Given the description of an element on the screen output the (x, y) to click on. 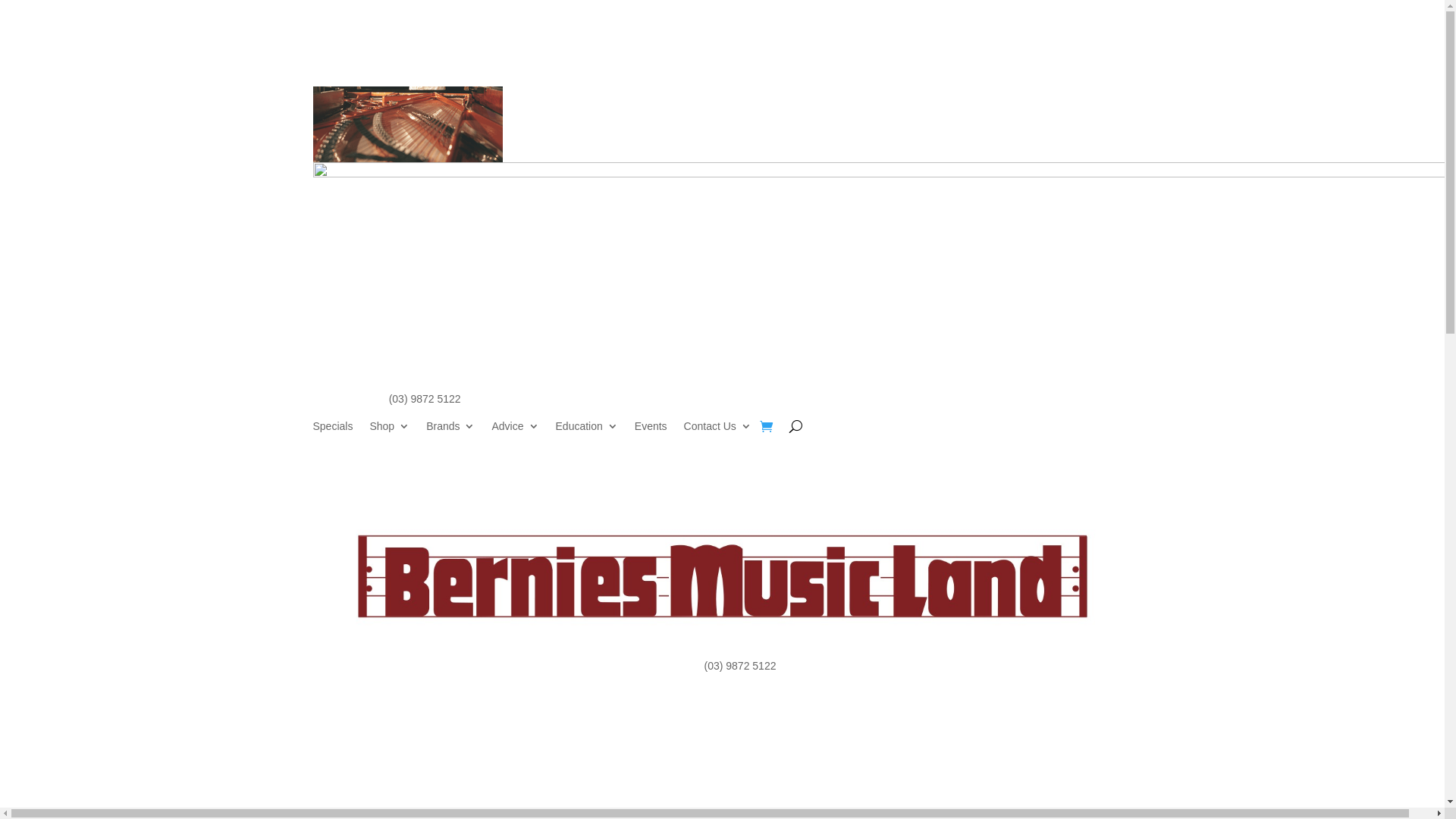
Advice Element type: text (514, 428)
Events Element type: text (650, 428)
Contact Us Element type: text (717, 428)
Brands Element type: text (450, 428)
Specials Element type: text (332, 428)
Bernies Logowithlines2022 Element type: hover (721, 575)
Education Element type: text (586, 428)
Placecard Element type: hover (407, 124)
Shop Element type: text (389, 428)
